Given the description of an element on the screen output the (x, y) to click on. 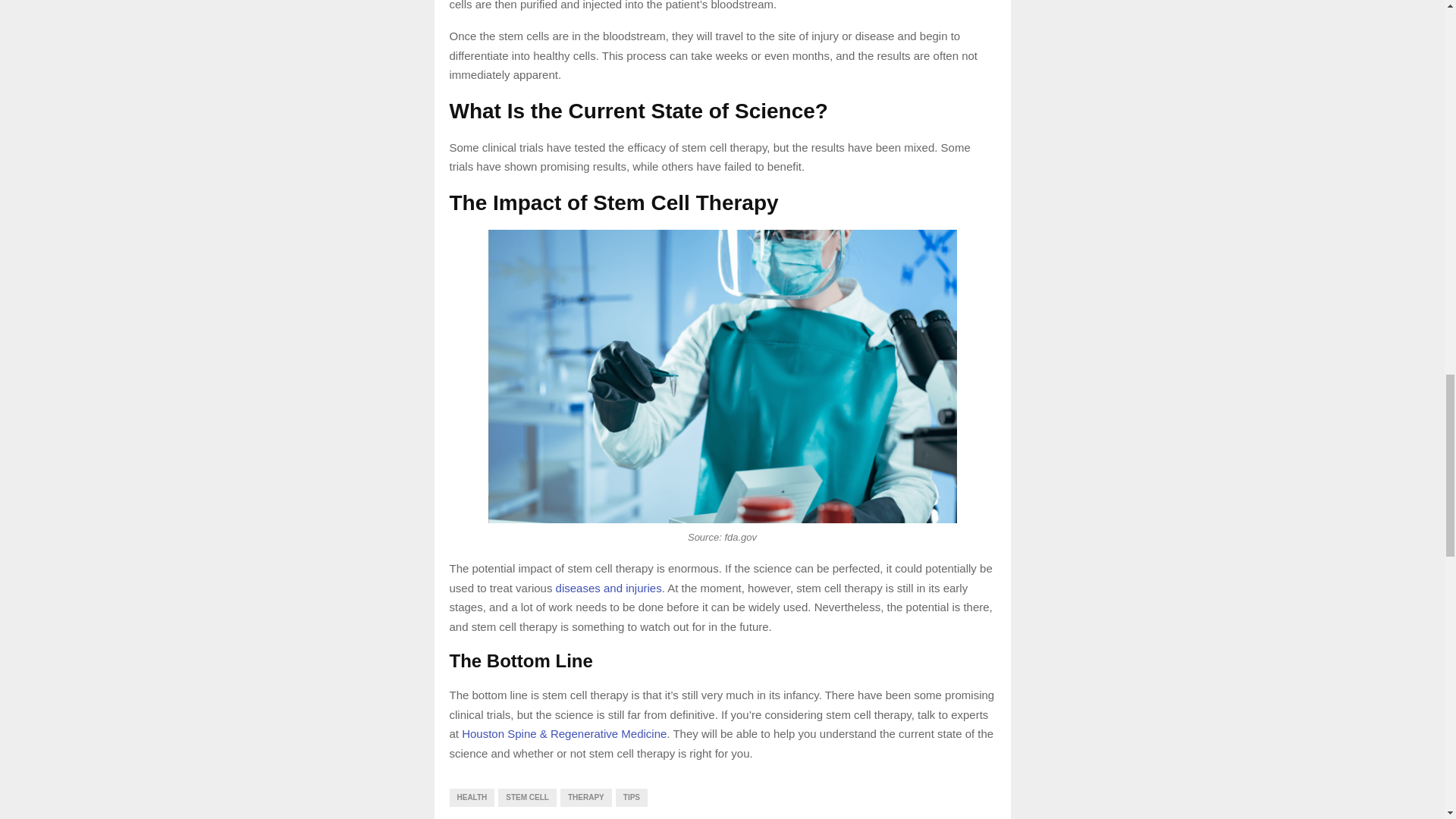
STEM CELL (526, 797)
diseases and injuries (609, 587)
HEALTH (471, 797)
